Given the description of an element on the screen output the (x, y) to click on. 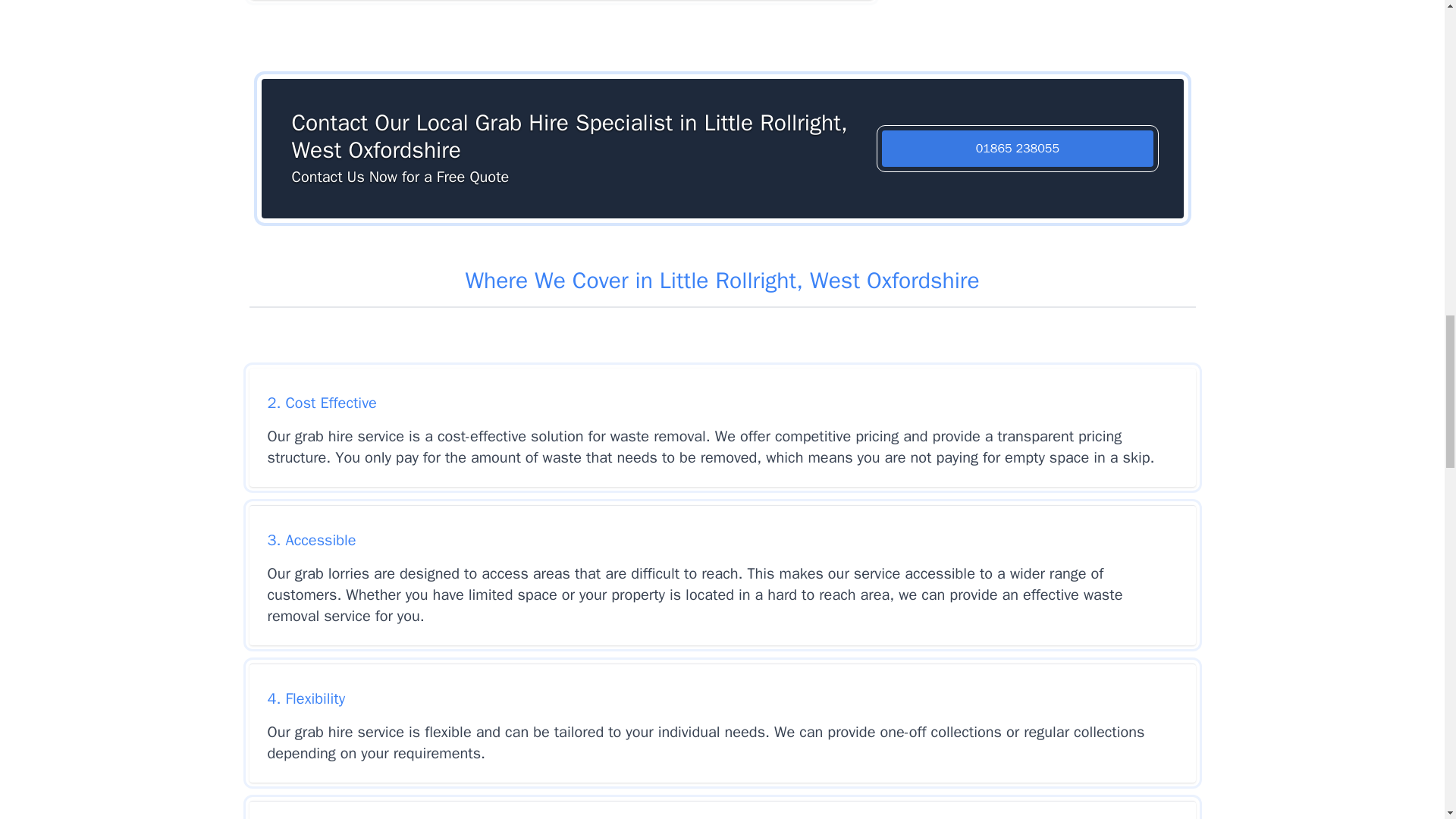
01865 238055 (1017, 148)
